Given the description of an element on the screen output the (x, y) to click on. 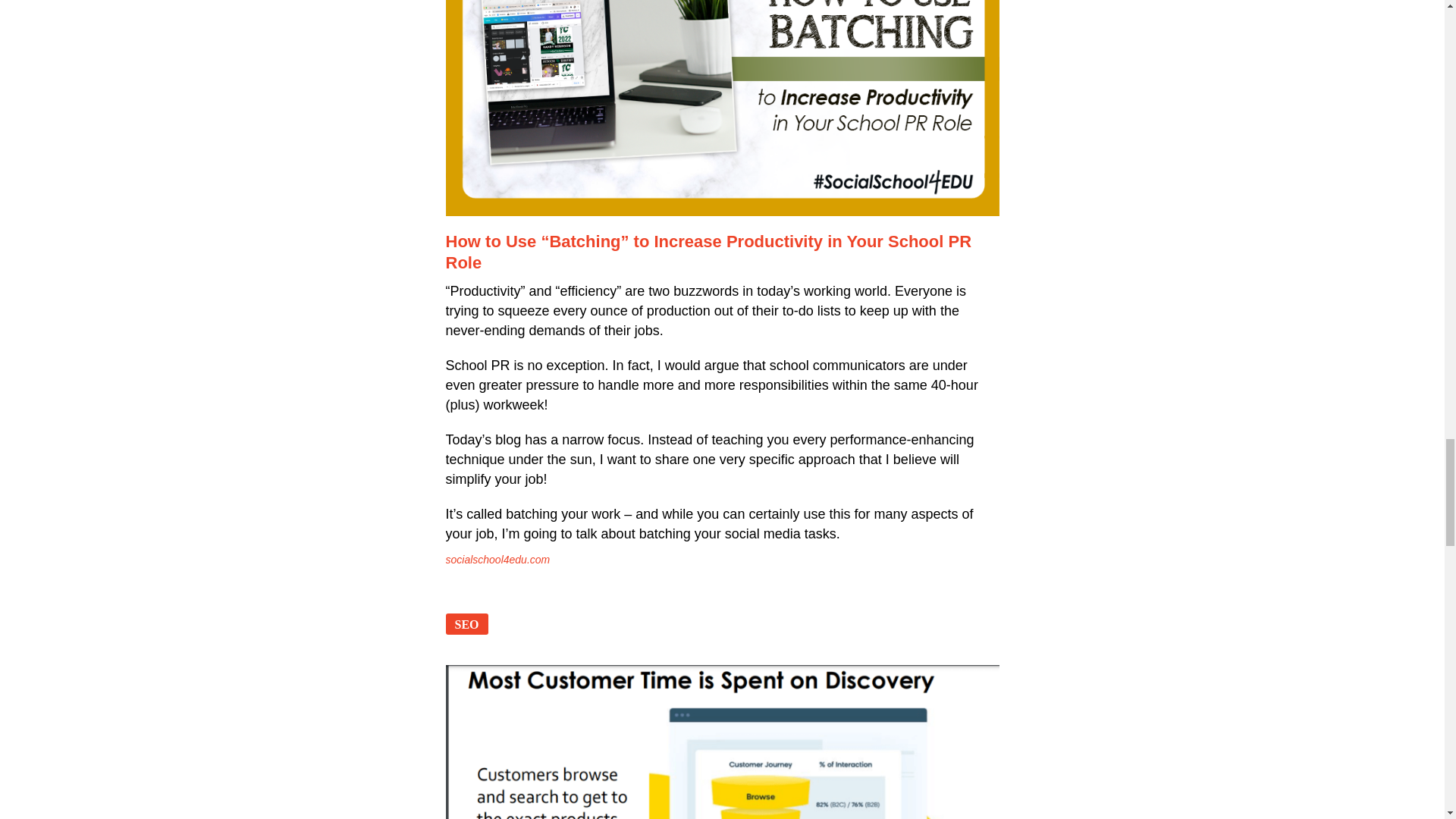
How AI can automate SEO tasks at scale (721, 742)
socialschool4edu.com (497, 559)
